Given the description of an element on the screen output the (x, y) to click on. 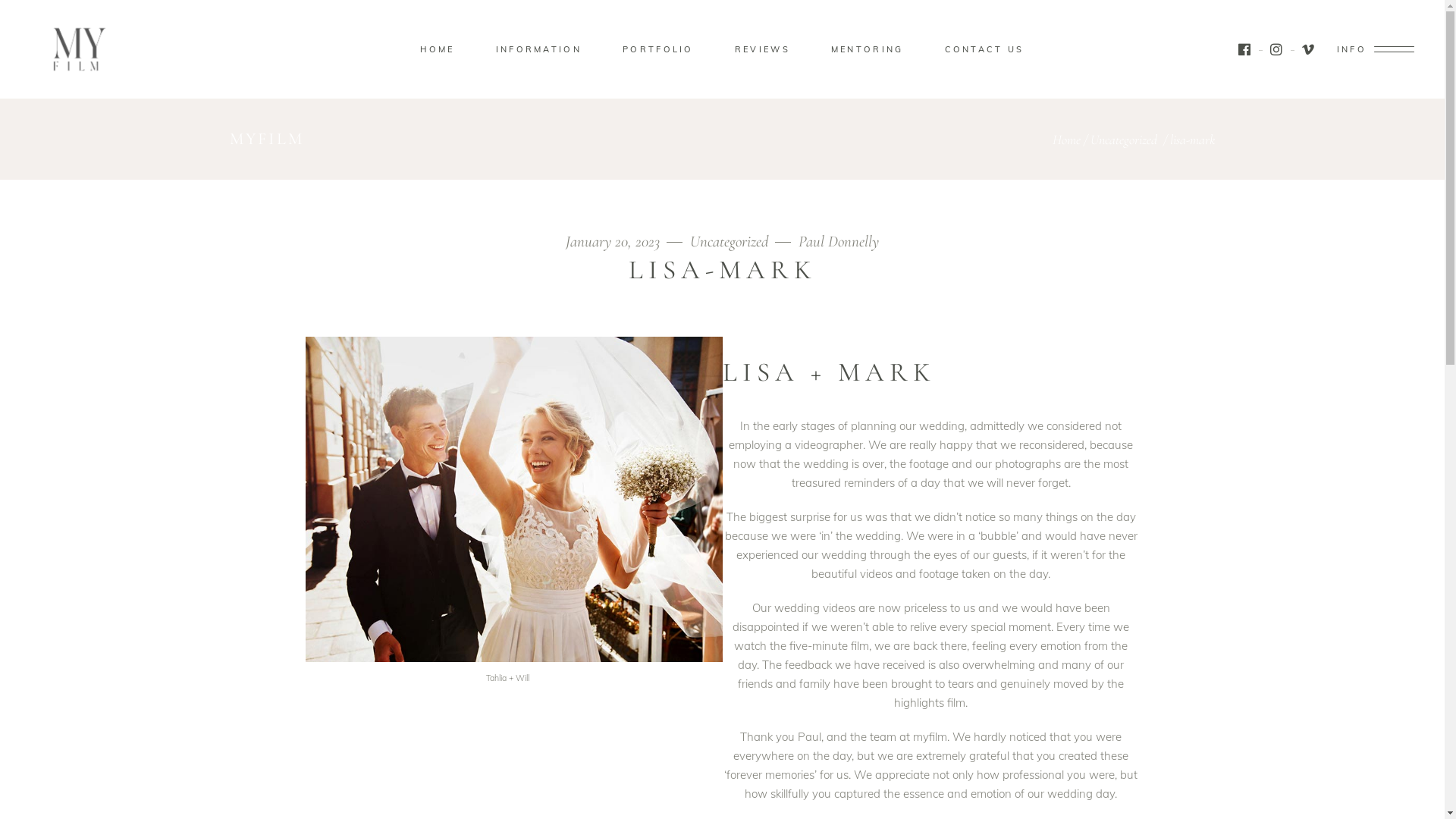
REVIEWS Element type: text (762, 49)
HOME Element type: text (436, 49)
Home Element type: text (1066, 139)
CONTACT US Element type: text (984, 49)
PORTFOLIO Element type: text (658, 49)
Paul Donnelly Element type: text (838, 241)
INFO Element type: text (1375, 48)
January 20, 2023 Element type: text (626, 241)
Uncategorized Element type: text (1123, 139)
INFORMATION Element type: text (538, 49)
MENTORING Element type: text (867, 49)
Uncategorized Element type: text (742, 241)
